Given the description of an element on the screen output the (x, y) to click on. 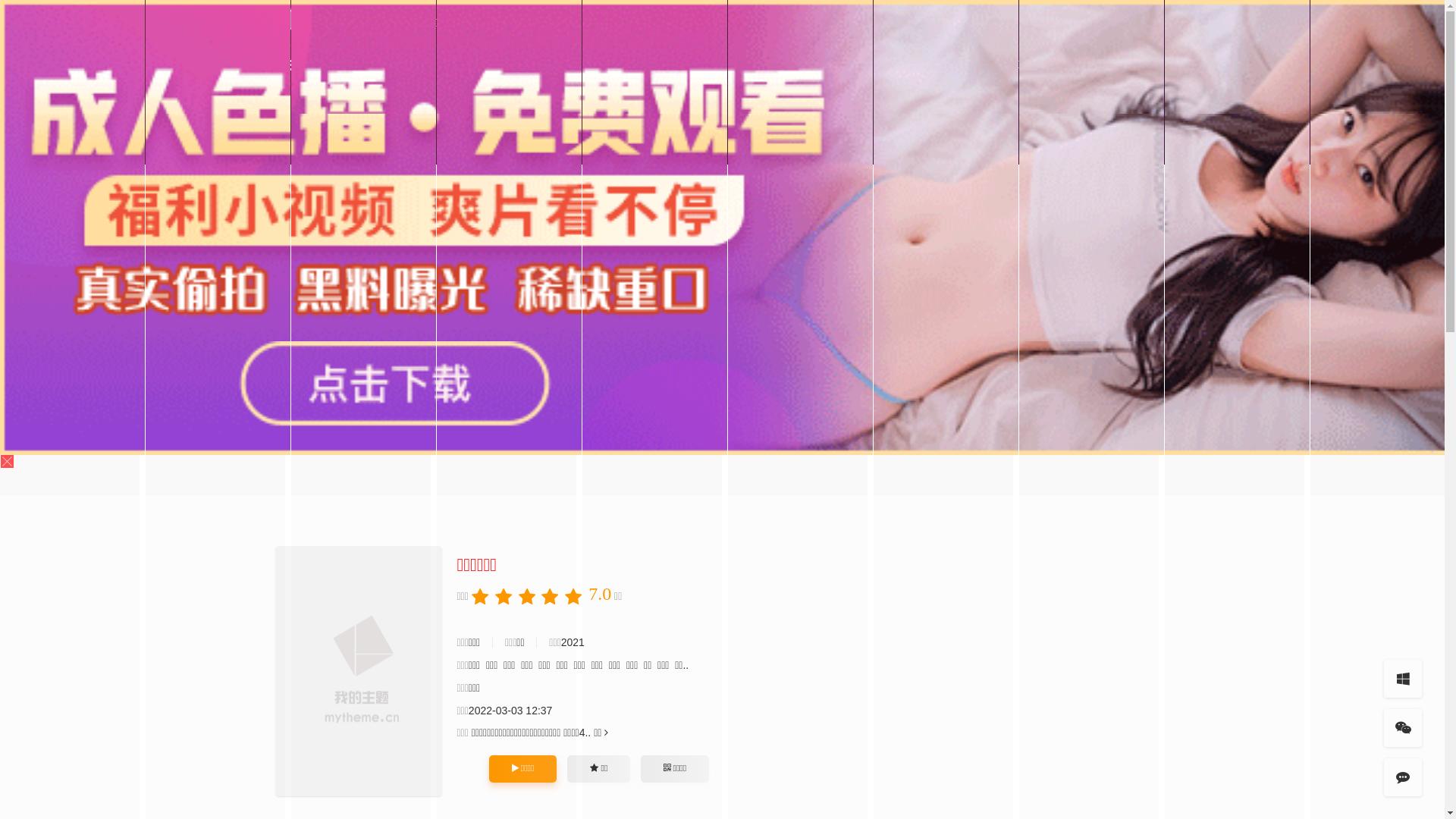
2021 Element type: text (572, 642)
